Given the description of an element on the screen output the (x, y) to click on. 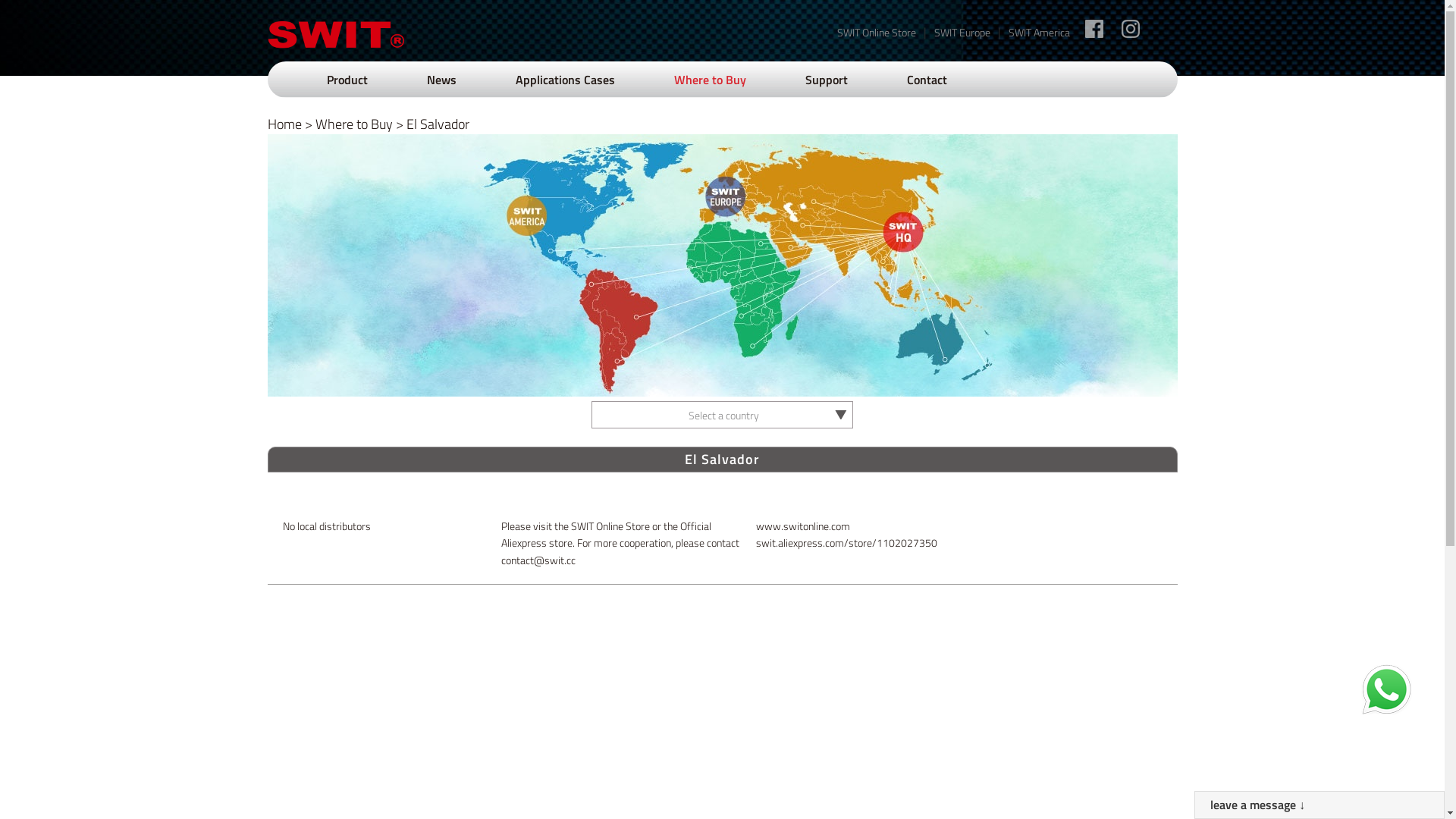
Support Element type: text (826, 79)
SWIT Europe Element type: text (962, 32)
Product Element type: text (346, 79)
Where to Buy Element type: text (709, 79)
Where to Buy Element type: text (353, 123)
SWIT America Element type: text (1039, 32)
Contact Element type: text (926, 79)
El Salvador Element type: text (437, 123)
Applications Cases Element type: text (565, 79)
SWIT Online Store Element type: text (876, 32)
Home Element type: text (283, 123)
News Element type: text (440, 79)
